Given the description of an element on the screen output the (x, y) to click on. 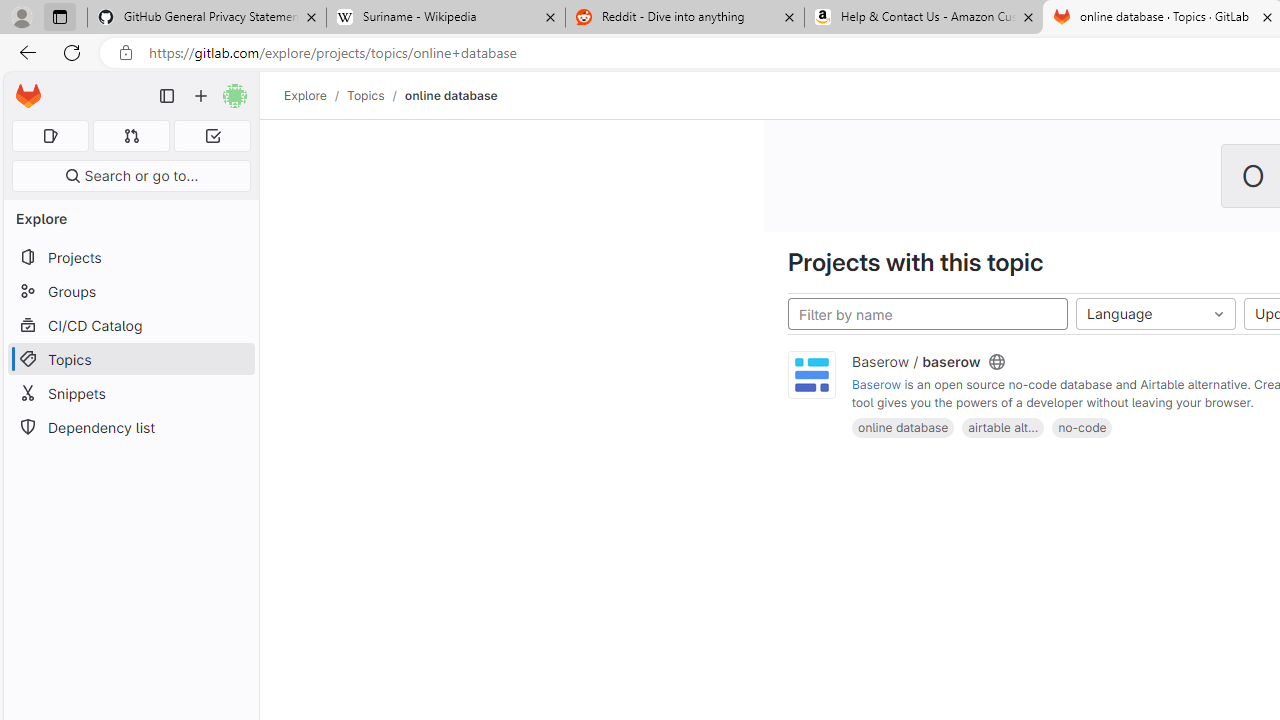
Explore/ (316, 95)
Dependency list (130, 427)
Baserow / baserow (916, 361)
Baserow (877, 385)
Topics (130, 358)
airtable alt... (1003, 426)
Assigned issues 0 (50, 136)
online database (450, 95)
CI/CD Catalog (130, 325)
